Given the description of an element on the screen output the (x, y) to click on. 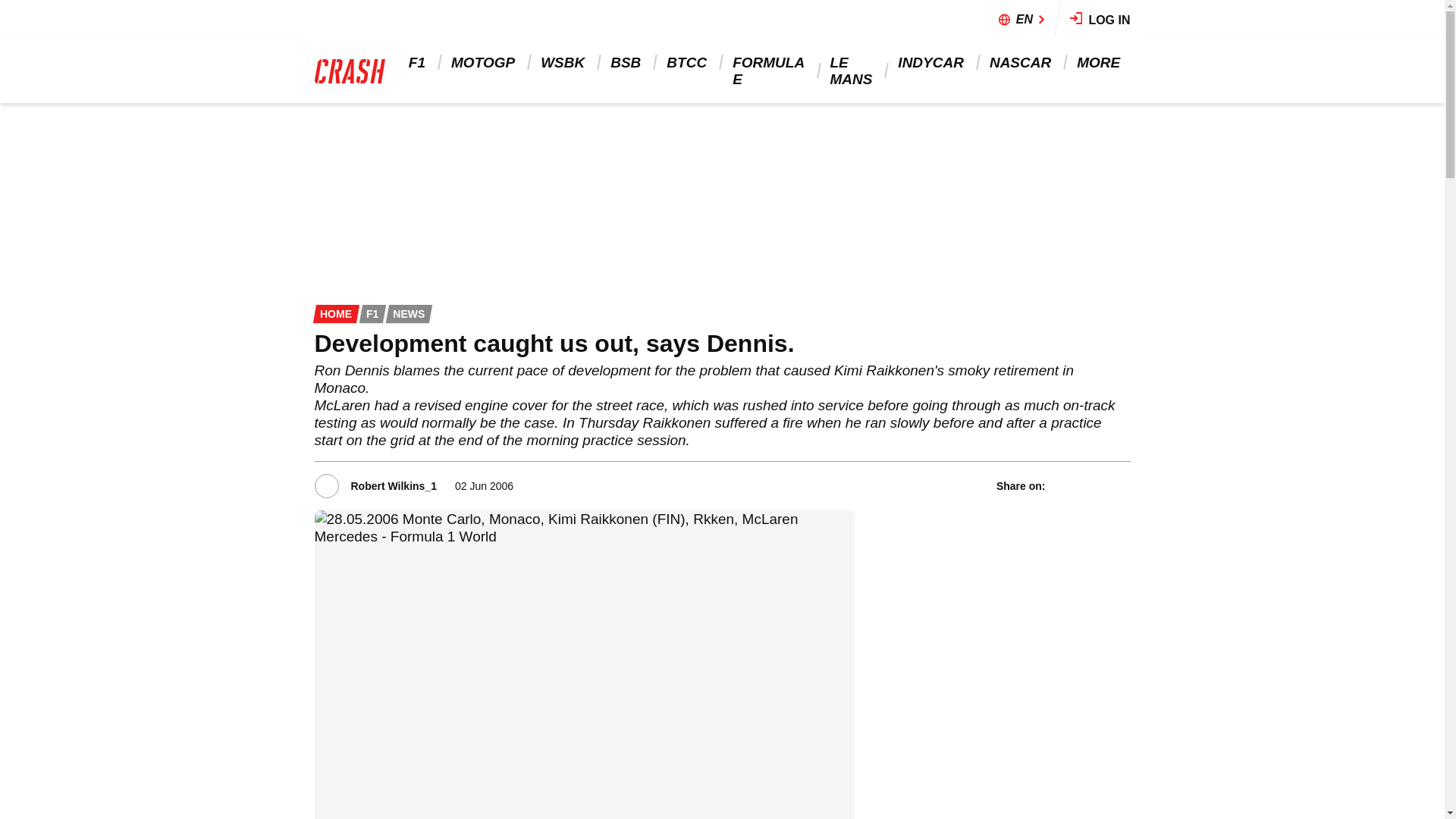
Share to Email (1119, 486)
BSB (626, 62)
F1 (418, 62)
Share to Facebook (1060, 486)
WSBK (563, 62)
LOG IN (1100, 19)
Share to X (1080, 486)
MOTOGP (484, 62)
Share to Linkedin (1099, 486)
